Given the description of an element on the screen output the (x, y) to click on. 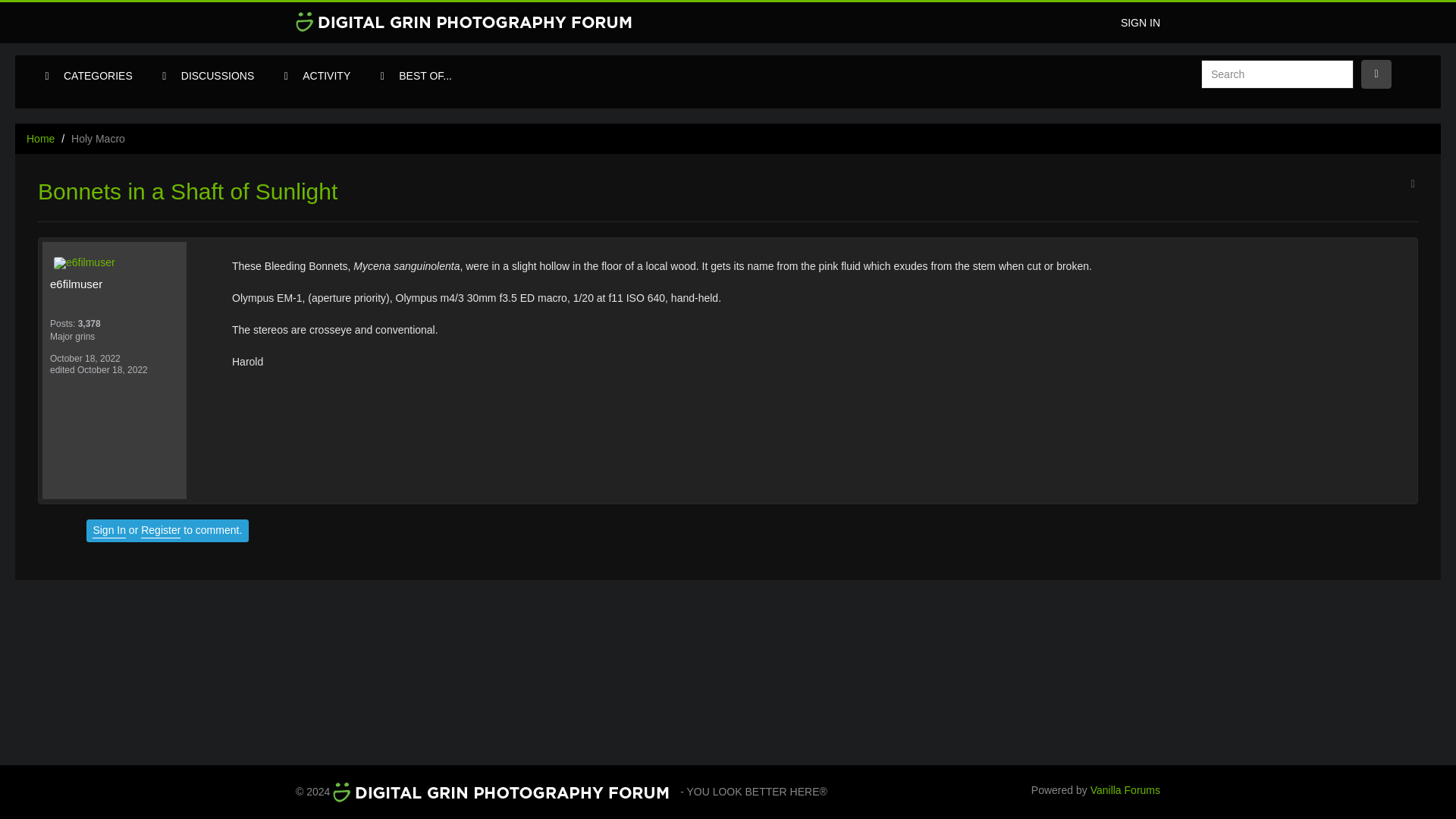
BEST OF... (425, 75)
DISCUSSIONS (217, 75)
e6filmuser (114, 284)
e6filmuser (118, 262)
Options (1376, 73)
Home (40, 138)
Holy Macro (98, 138)
Register (160, 531)
October 18, 2022 (84, 357)
CATEGORIES (98, 75)
Major grins (114, 336)
October 18, 2022 7:25AM (84, 357)
Edited October 18, 2022 7:26AM by e6filmuser. (98, 369)
ACTIVITY (326, 75)
SIGN IN (1140, 22)
